Given the description of an element on the screen output the (x, y) to click on. 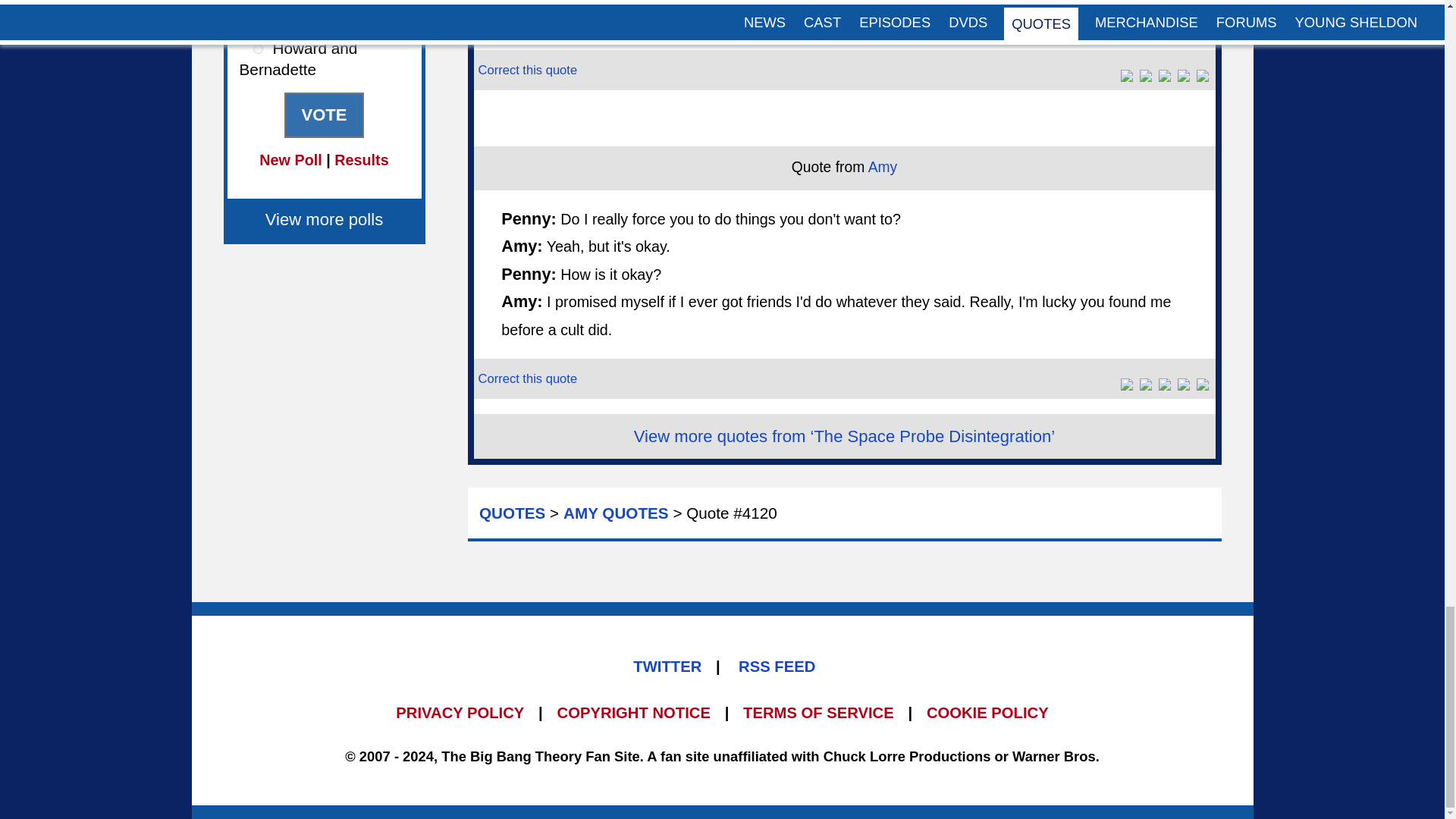
3 (258, 49)
Vote (322, 115)
2 (258, 17)
